Given the description of an element on the screen output the (x, y) to click on. 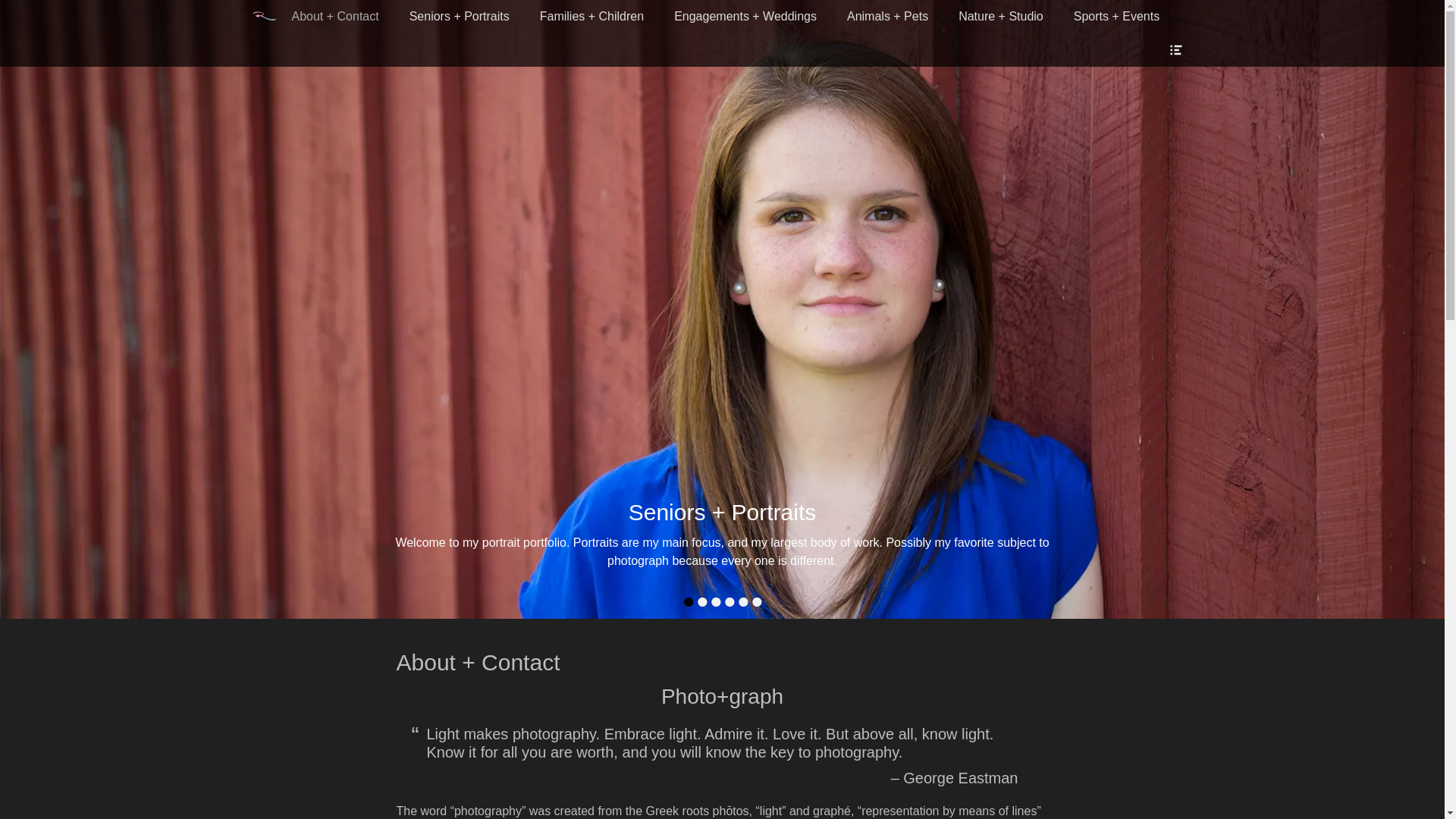
racheldancks (486, 542)
View all posts by racheldancks (486, 542)
Rachel Dancks Photography (263, 16)
